Given the description of an element on the screen output the (x, y) to click on. 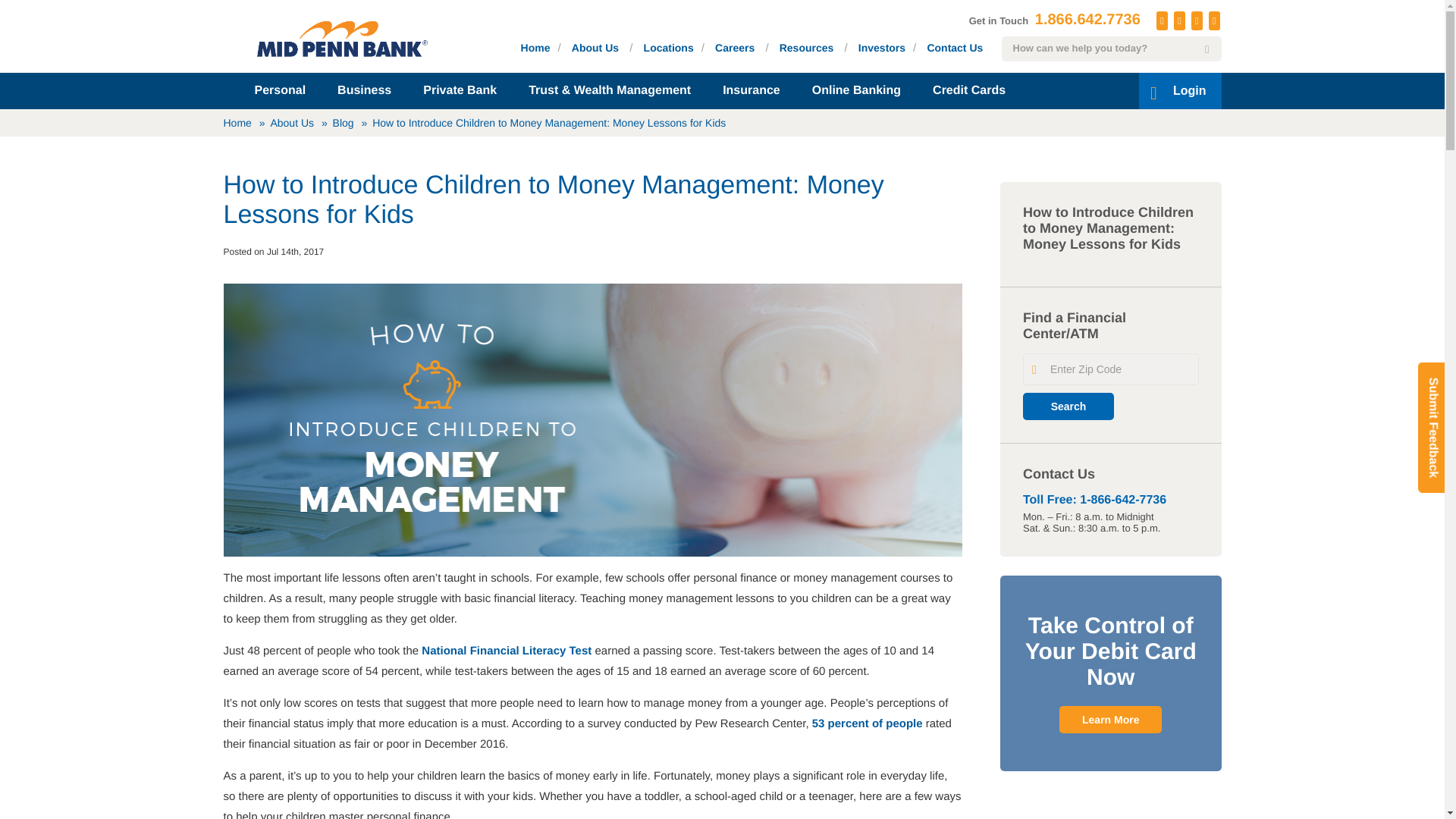
Locations (668, 47)
Contact Us (954, 47)
Resources (806, 47)
Careers (734, 47)
Investors (882, 47)
About Us (595, 47)
1.866.642.7736 (1087, 19)
